Given the description of an element on the screen output the (x, y) to click on. 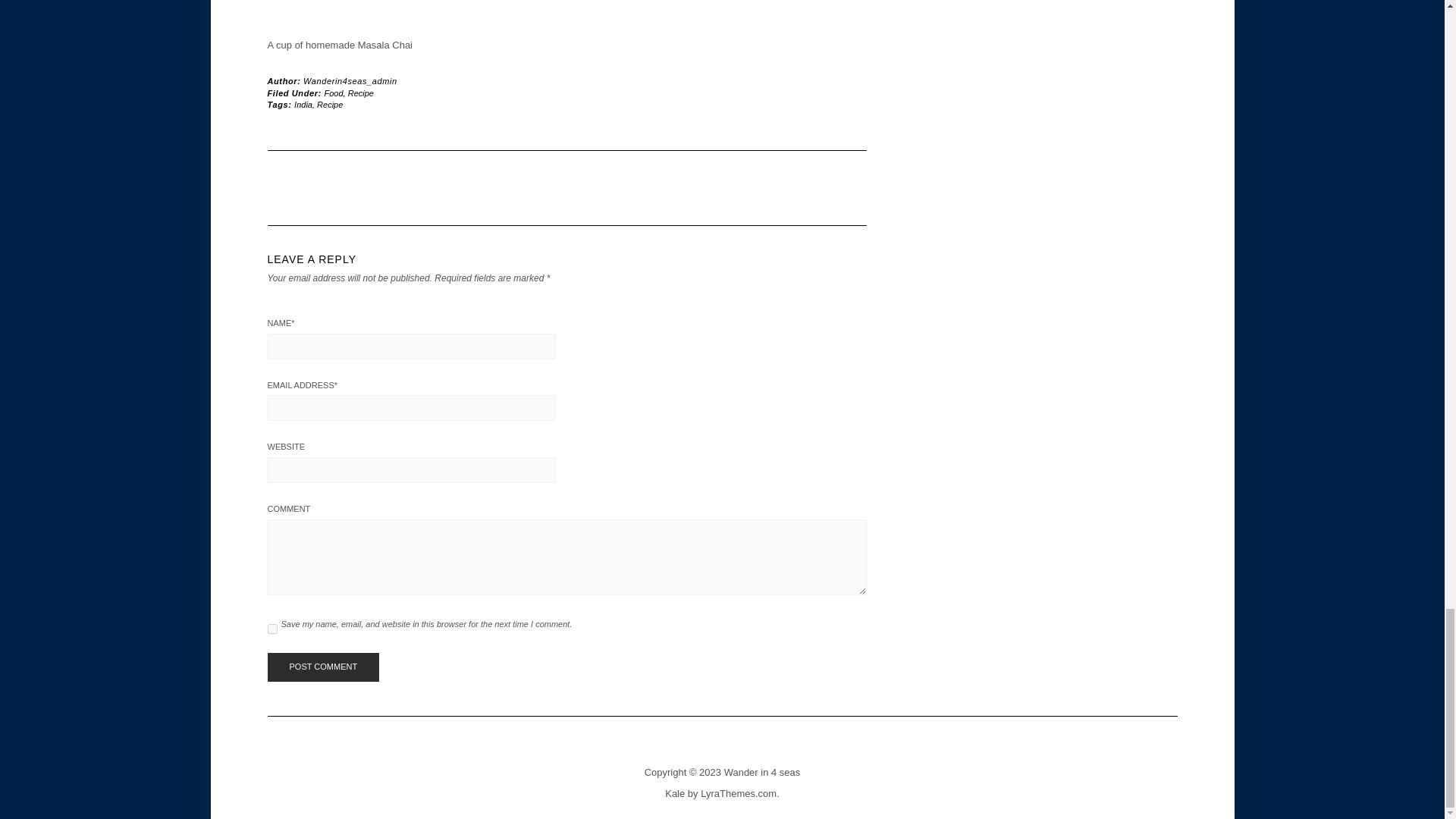
Recipe (360, 92)
Food (333, 92)
Post Comment (322, 666)
yes (271, 628)
Post Comment (322, 666)
Recipe (329, 103)
India (303, 103)
